Given the description of an element on the screen output the (x, y) to click on. 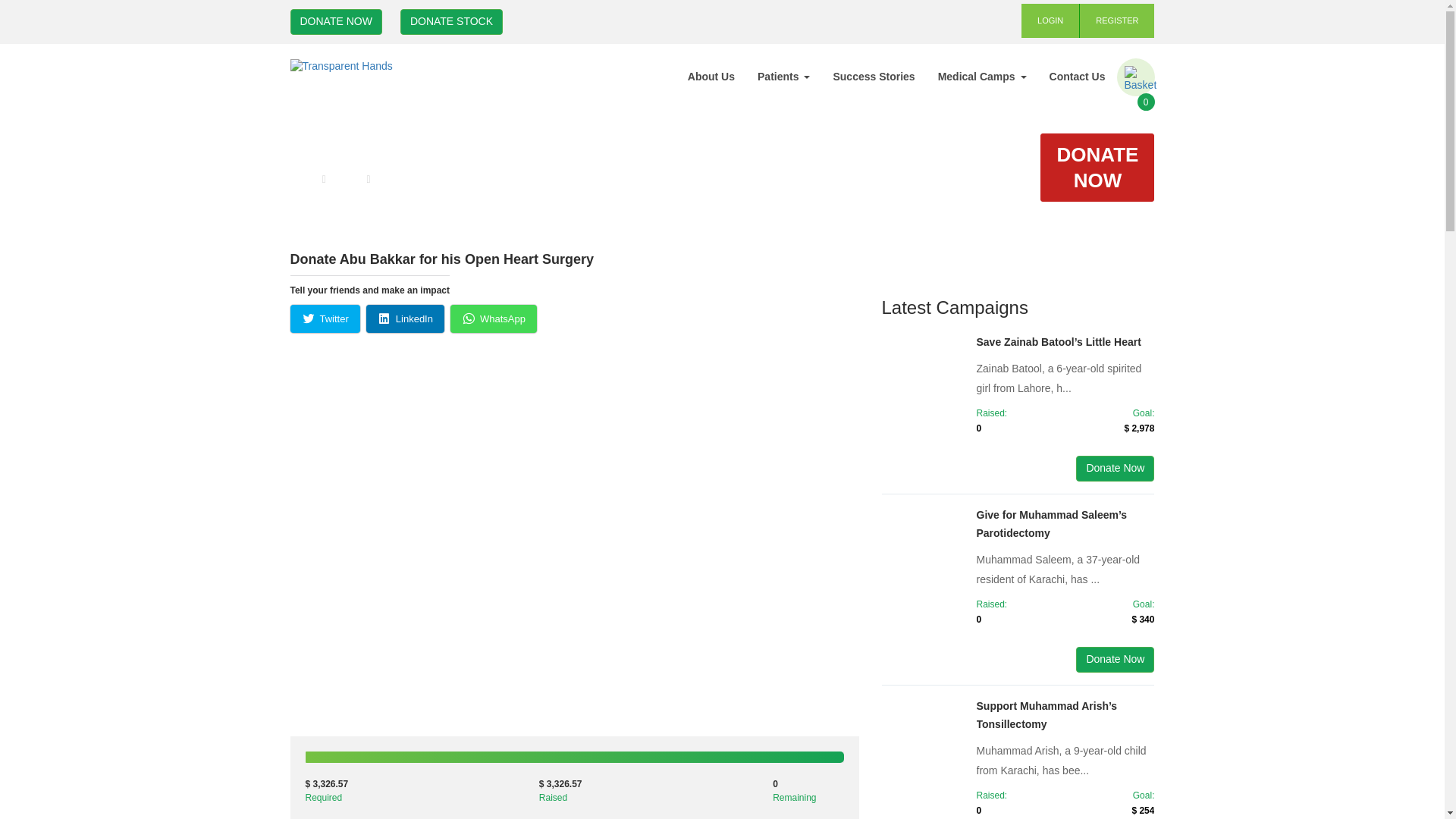
REGISTER (1117, 20)
DONATE STOCK (451, 22)
About Us (711, 76)
Donate Now (1114, 468)
LOGIN (1051, 20)
Click to share on WhatsApp (493, 318)
Contact Us (1077, 76)
Click to share on Twitter (324, 318)
Patients (783, 76)
Medical Camps (982, 76)
Home (303, 178)
WhatsApp (493, 318)
Success Stories (873, 76)
DONATE NOW (1097, 167)
Click to share on LinkedIn (405, 318)
